Given the description of an element on the screen output the (x, y) to click on. 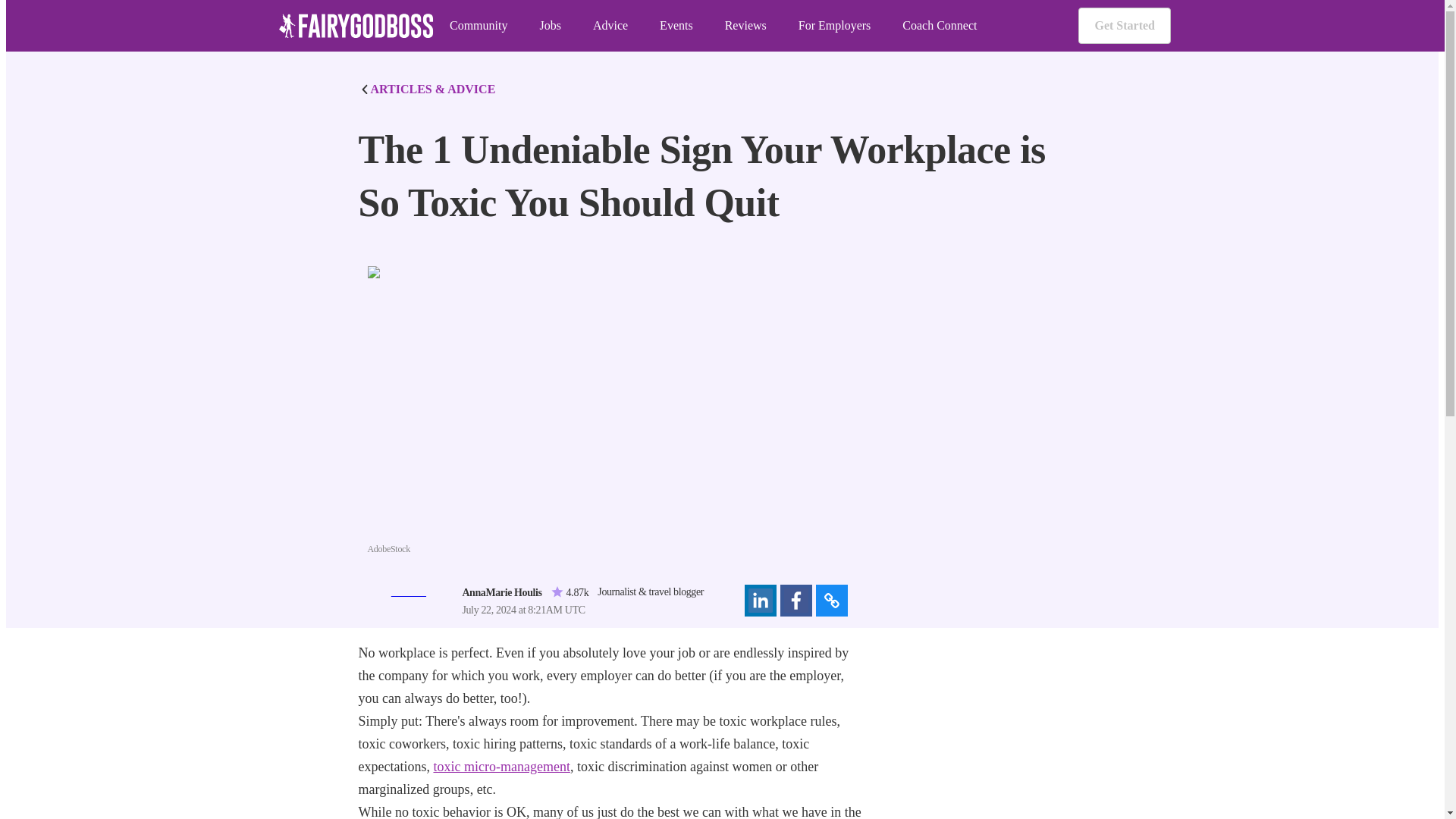
Events (676, 25)
For Employers (833, 25)
Community (477, 25)
management (535, 766)
Jobs (549, 25)
Events (676, 25)
Advice (609, 25)
For Employers (833, 25)
Reviews (746, 25)
Coach Connect (939, 25)
Community (477, 25)
Advice (609, 25)
toxic micro- (465, 766)
Coach Connect (939, 25)
Jobs (549, 25)
